Given the description of an element on the screen output the (x, y) to click on. 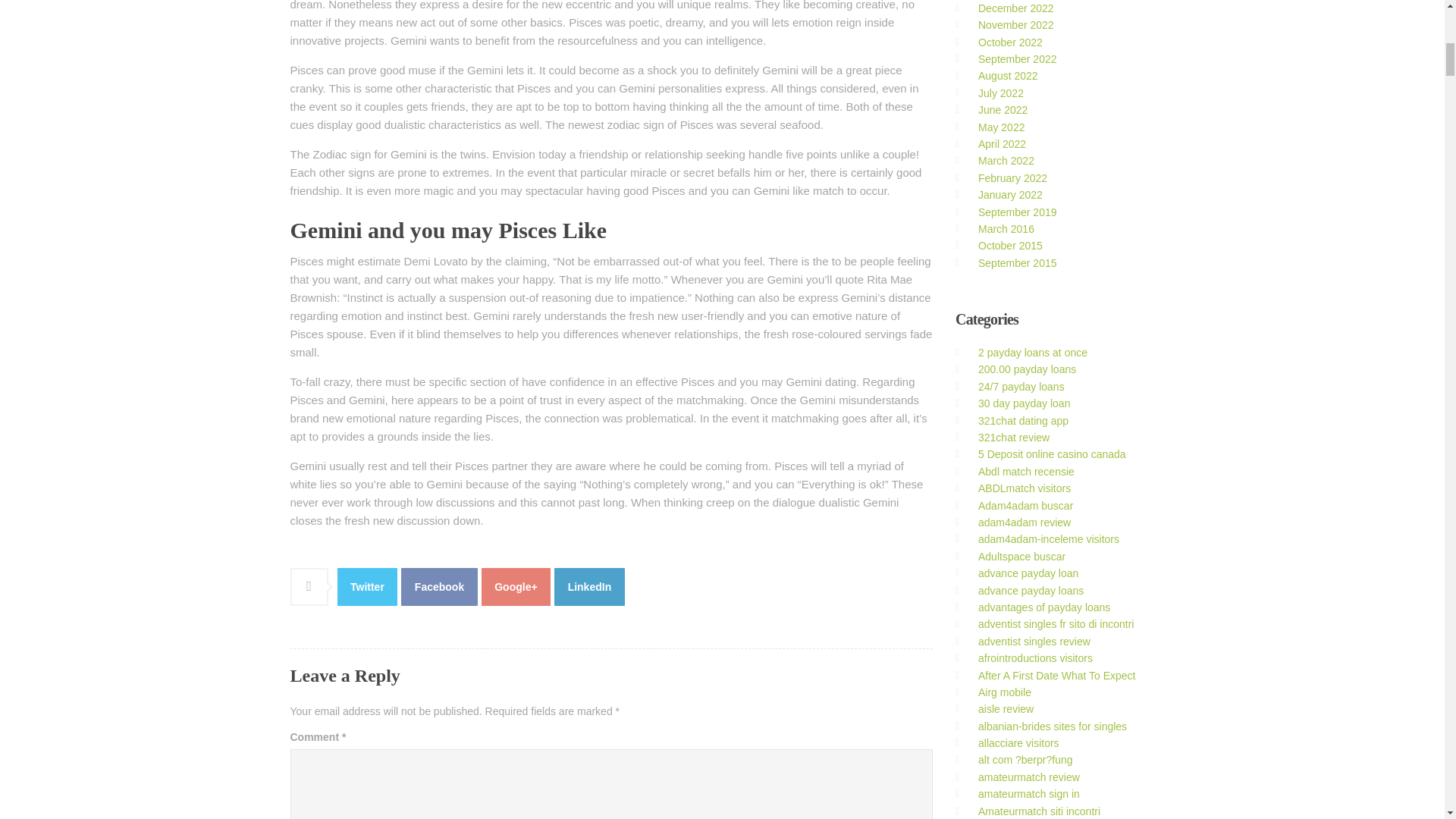
Twitter (366, 587)
LinkedIn (589, 587)
Facebook (439, 587)
